Given the description of an element on the screen output the (x, y) to click on. 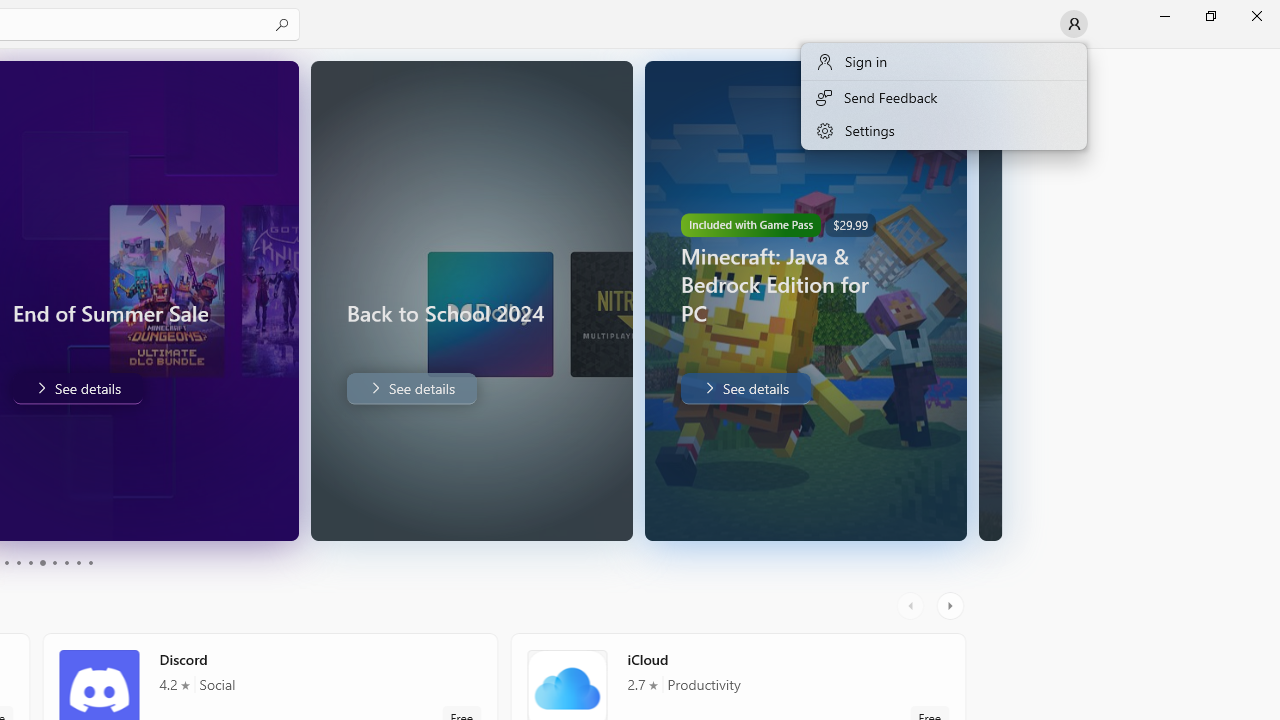
Page 9 (77, 562)
Page 6 (41, 562)
Page 10 (90, 562)
Page 4 (17, 562)
AutomationID: RightScrollButton (952, 606)
AutomationID: Image (989, 300)
Page 5 (29, 562)
AutomationID: LeftScrollButton (913, 606)
End of Summer Sale. Save up to 80%.  . See details (76, 387)
